Given the description of an element on the screen output the (x, y) to click on. 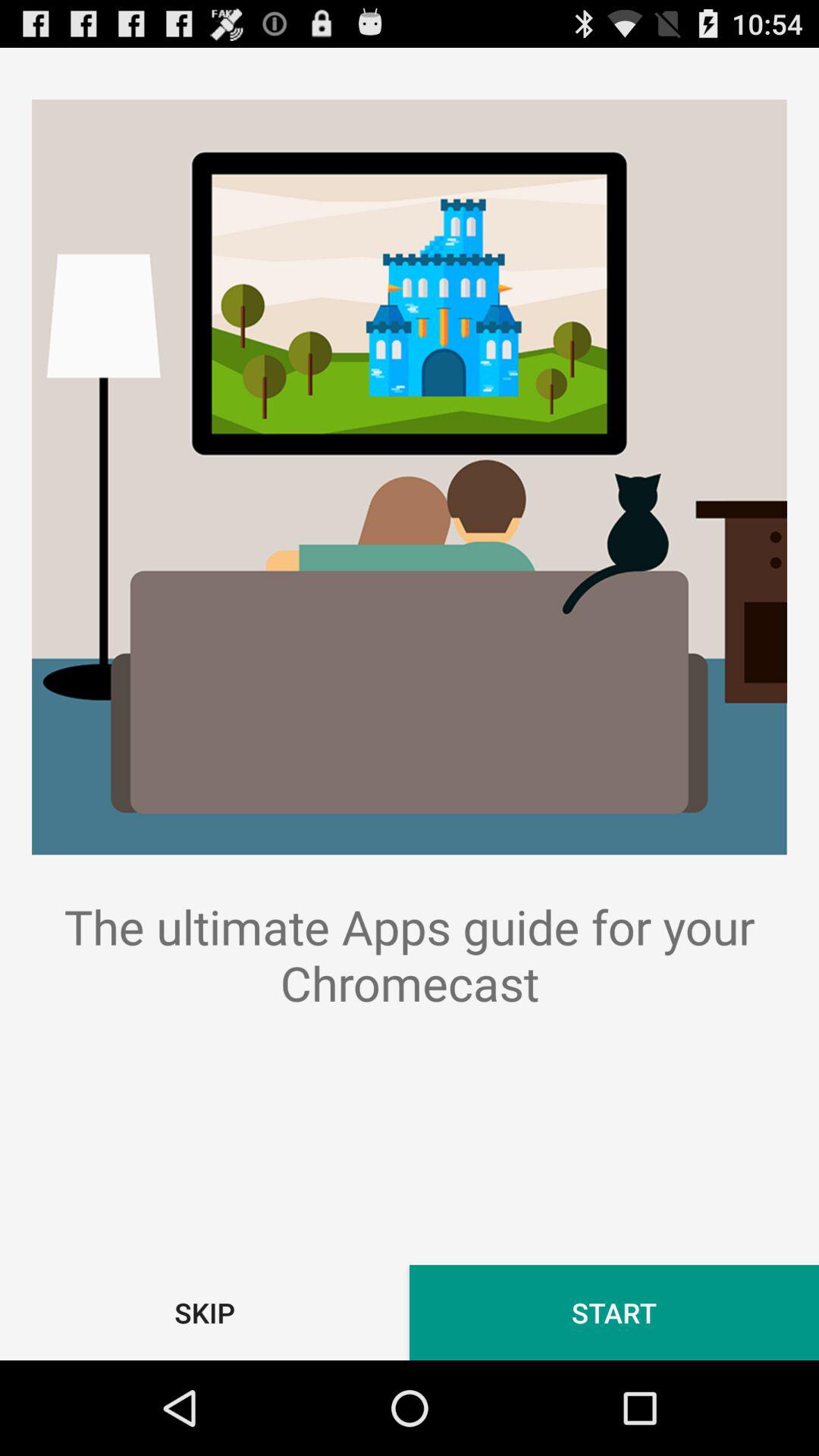
scroll to the start (614, 1312)
